Given the description of an element on the screen output the (x, y) to click on. 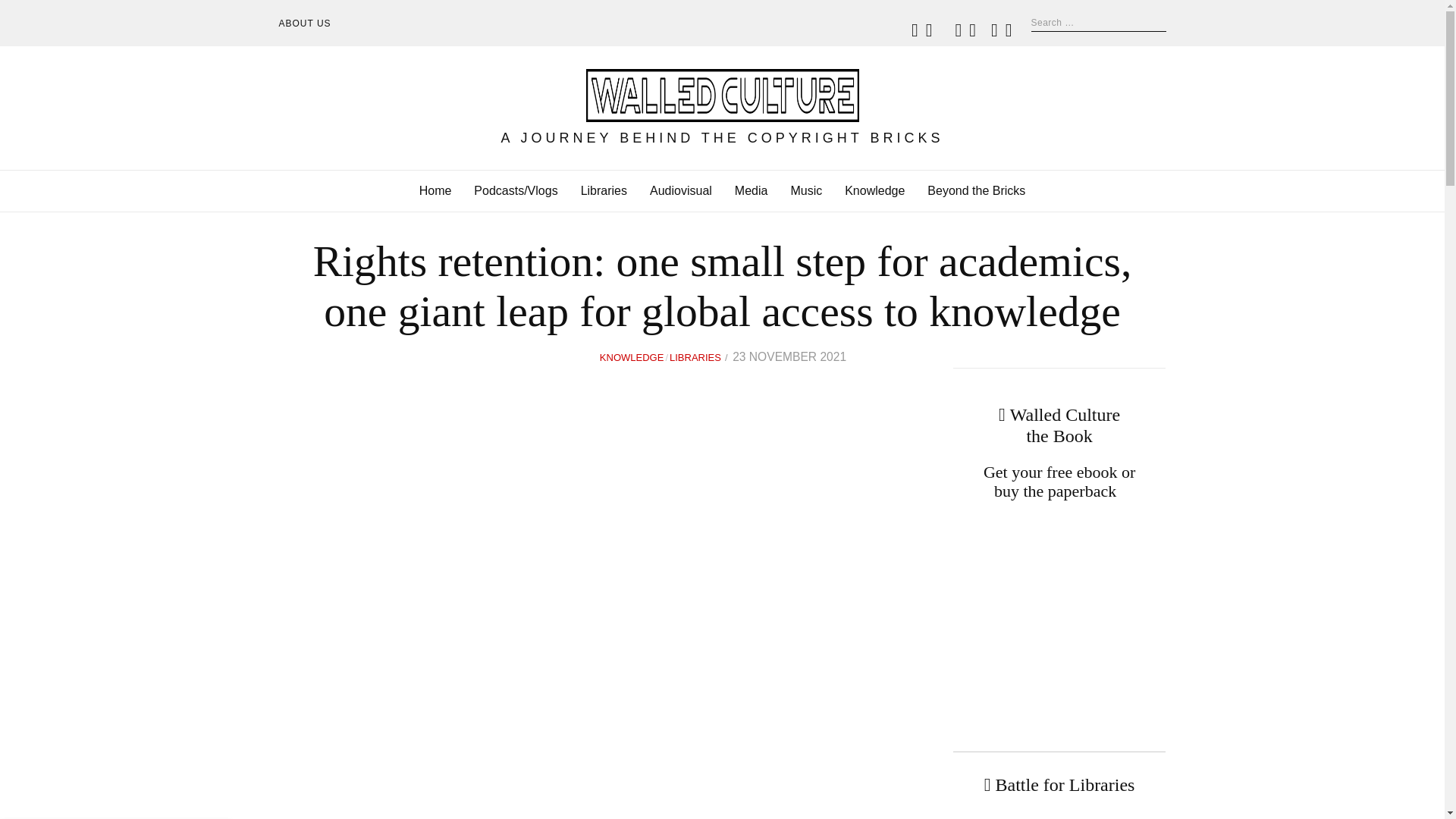
ABOUT US (305, 24)
KNOWLEDGE (631, 357)
Knowledge (874, 190)
Audiovisual (680, 190)
LIBRARIES (694, 357)
Libraries (603, 190)
Beyond the Bricks (976, 190)
